Given the description of an element on the screen output the (x, y) to click on. 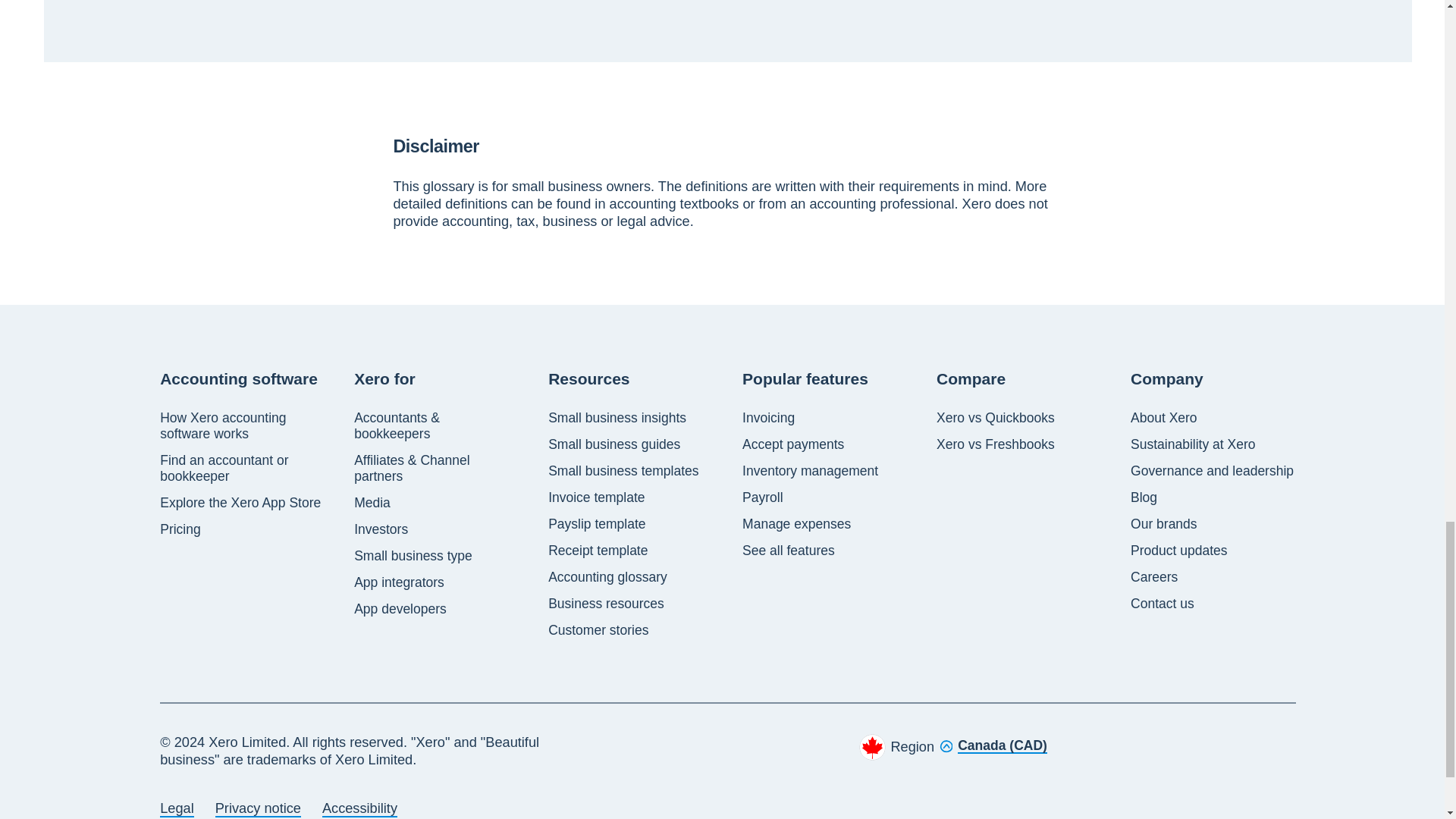
Pricing (180, 529)
Small business guides (613, 444)
Invoice template (596, 497)
Investors (380, 529)
App developers (399, 609)
Small business templates (623, 471)
Small business insights (616, 417)
Find an accountant or bookkeeper (242, 468)
Explore the Xero App Store (240, 503)
Media (371, 503)
